Given the description of an element on the screen output the (x, y) to click on. 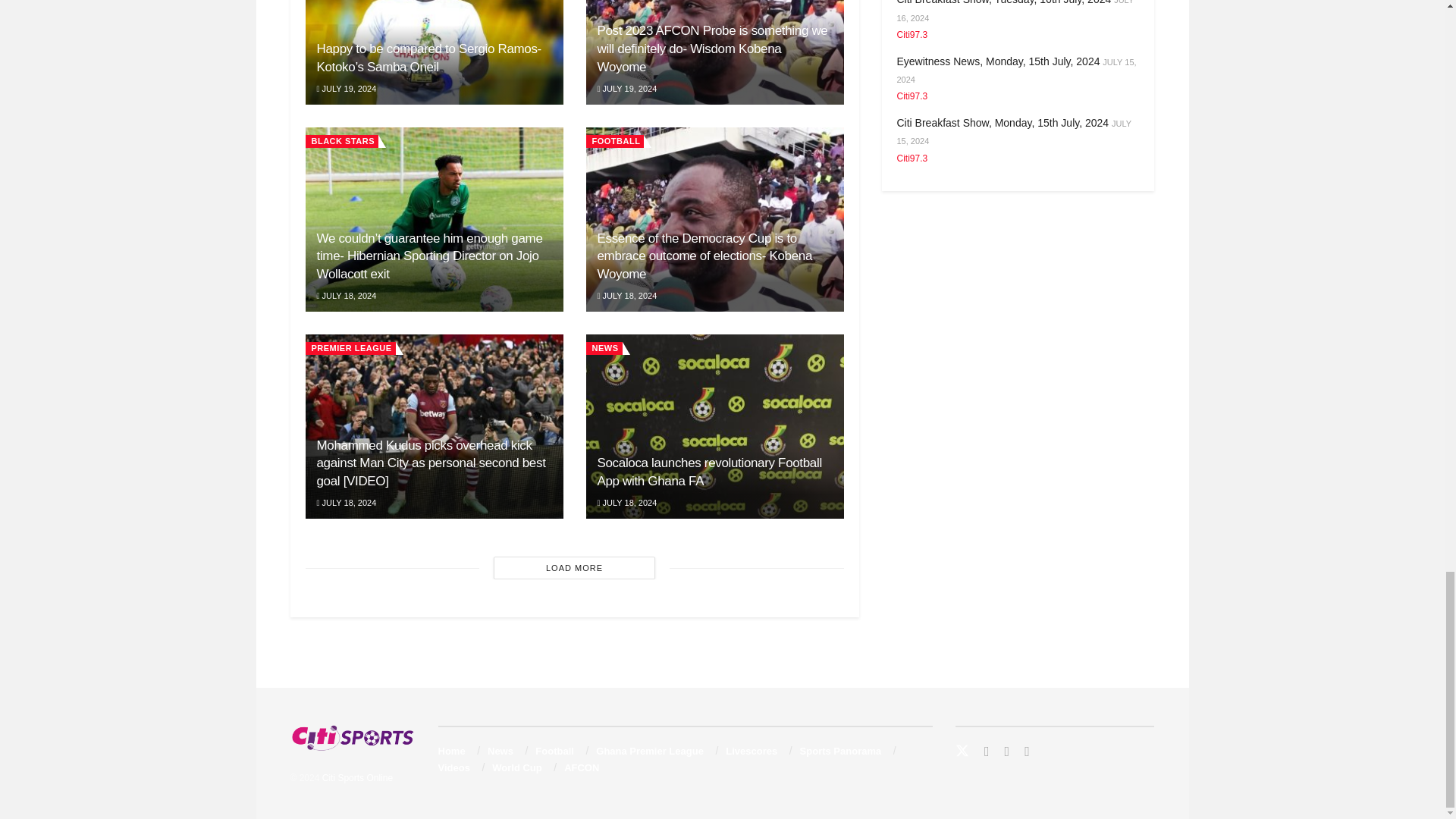
Citi Sports Online (357, 777)
